Given the description of an element on the screen output the (x, y) to click on. 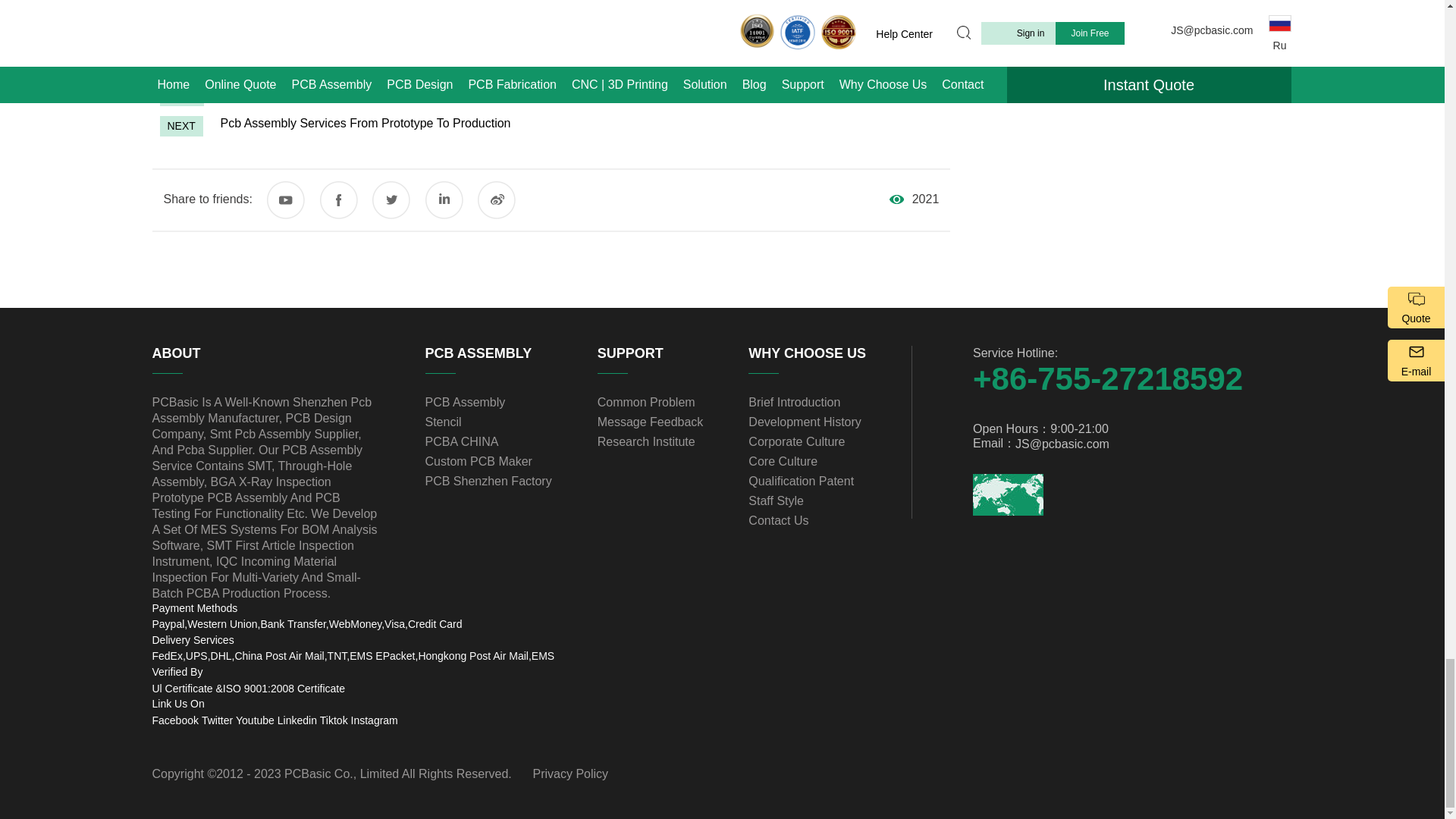
Follow us on instagram (373, 720)
Follow us on tiktok (333, 720)
Follow us on twitter (217, 720)
Follow us on facebook (174, 720)
Follow us on youtube (255, 720)
Follow us on linkedin (297, 720)
